Given the description of an element on the screen output the (x, y) to click on. 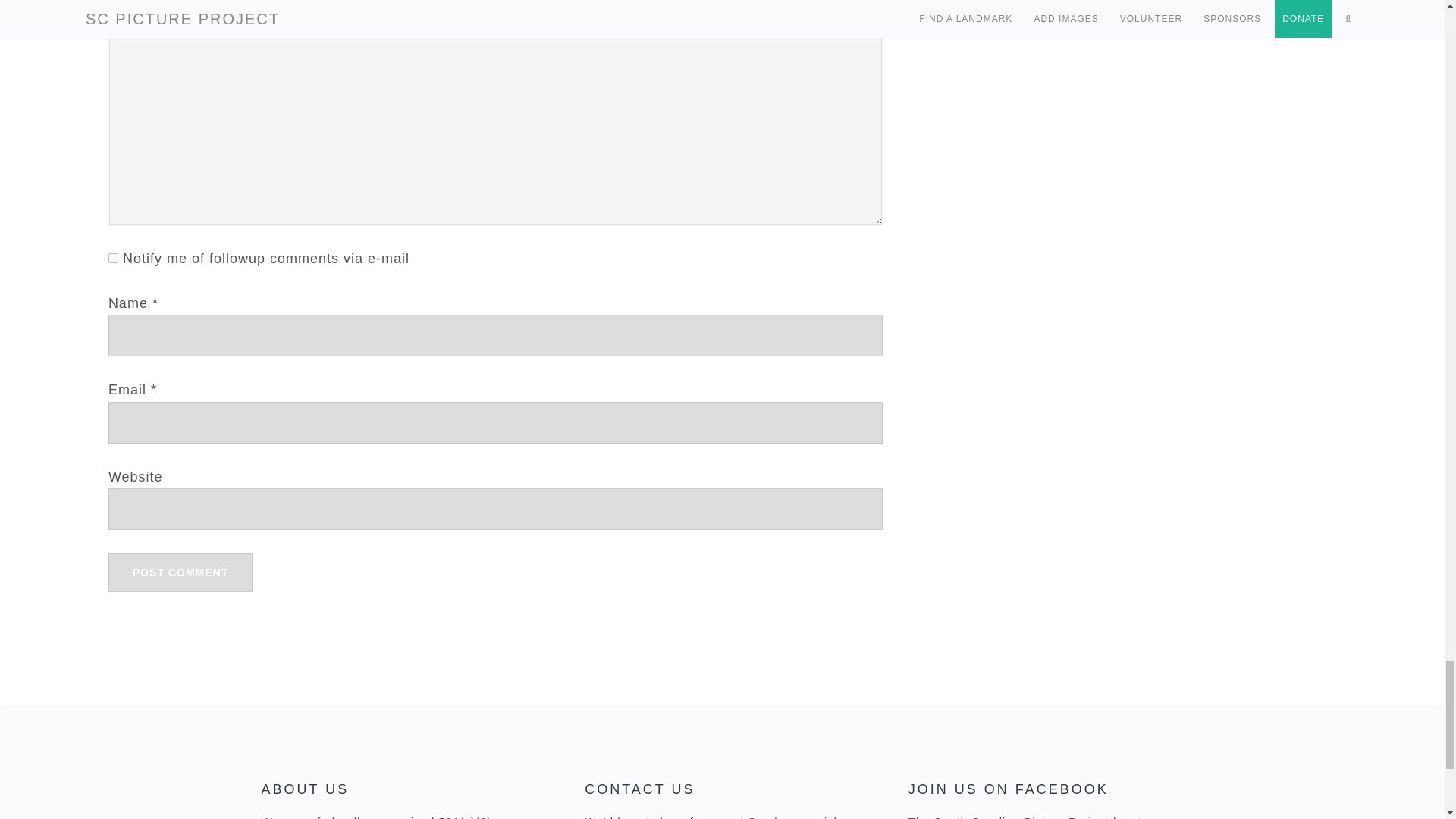
subscribe (112, 257)
Post Comment (179, 572)
